Given the description of an element on the screen output the (x, y) to click on. 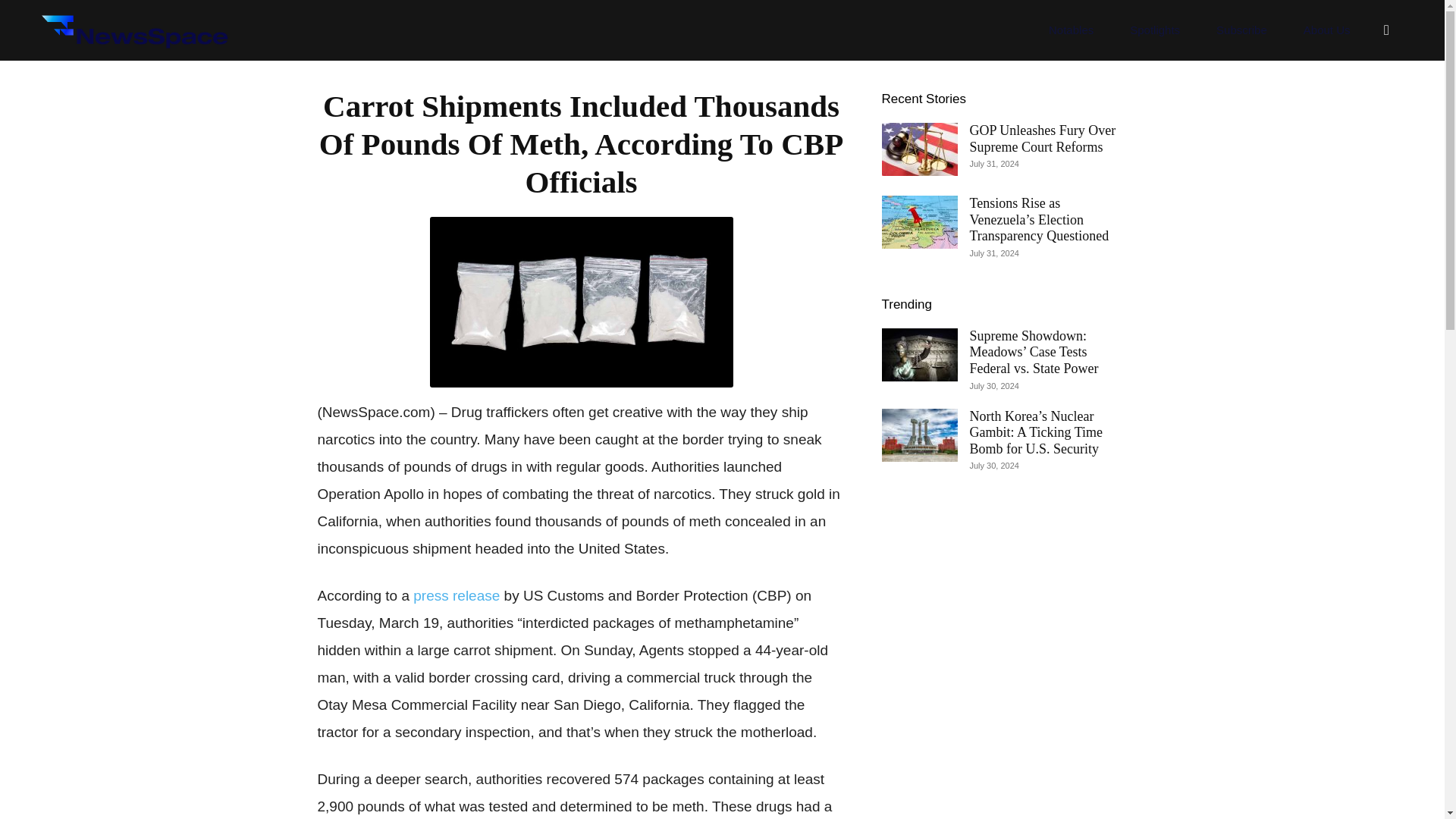
GOP Unleashes Fury Over Supreme Court Reforms (1042, 138)
Notables (1071, 30)
GOP Unleashes Fury Over Supreme Court Reforms (918, 149)
GOP Unleashes Fury Over Supreme Court Reforms (1042, 138)
News Space (133, 30)
About Us (1326, 30)
Search (1354, 102)
Spotlights (1155, 30)
press release (456, 595)
Subscribe (1241, 30)
